Given the description of an element on the screen output the (x, y) to click on. 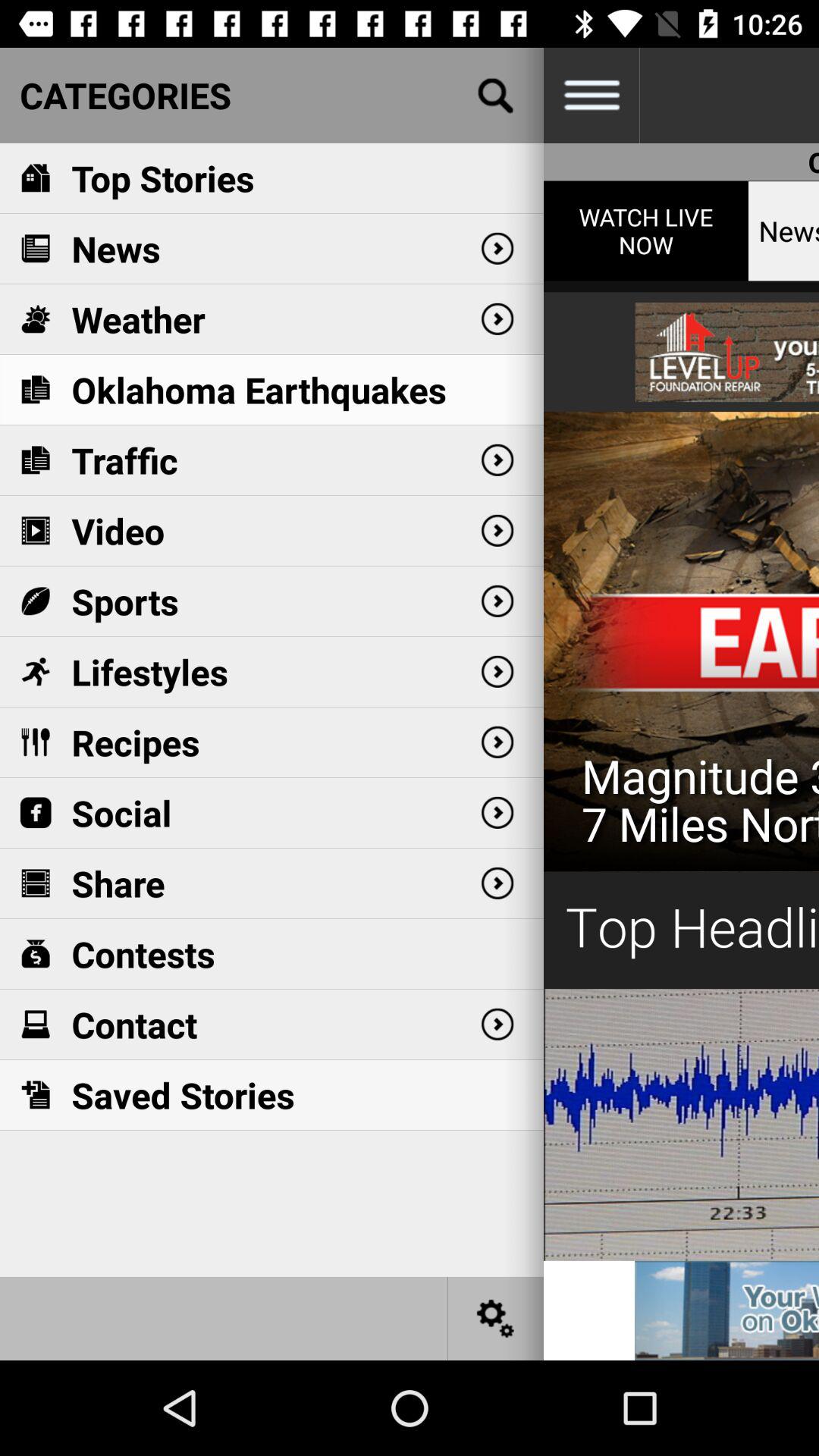
settings (495, 1318)
